Given the description of an element on the screen output the (x, y) to click on. 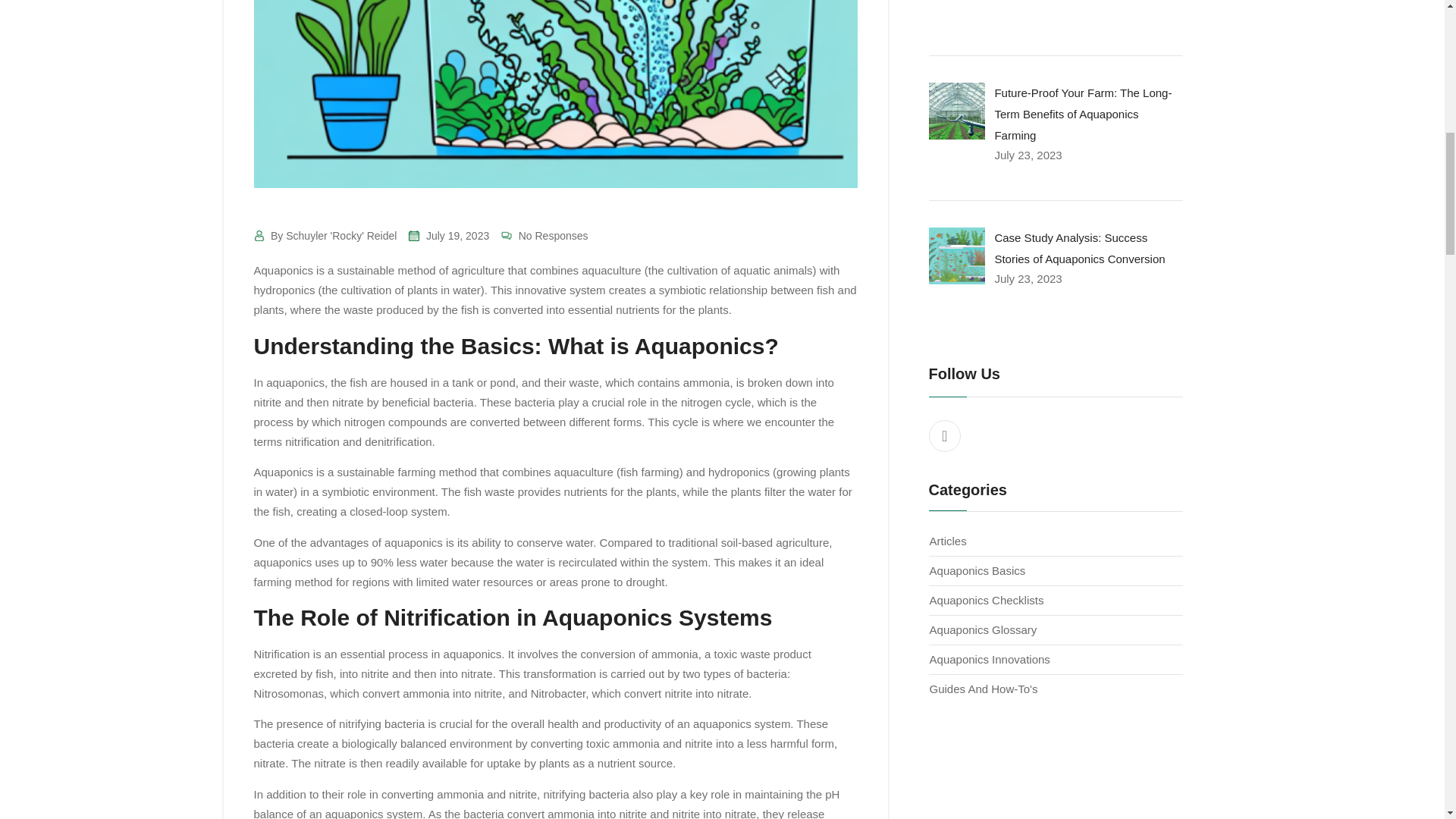
Aquaponics Innovations (989, 658)
Aquaponics Checklists (986, 599)
Aquaponics Glossary (983, 629)
Guides And How-To'S (984, 688)
Aquaponics Basics (978, 570)
Articles (948, 540)
